Given the description of an element on the screen output the (x, y) to click on. 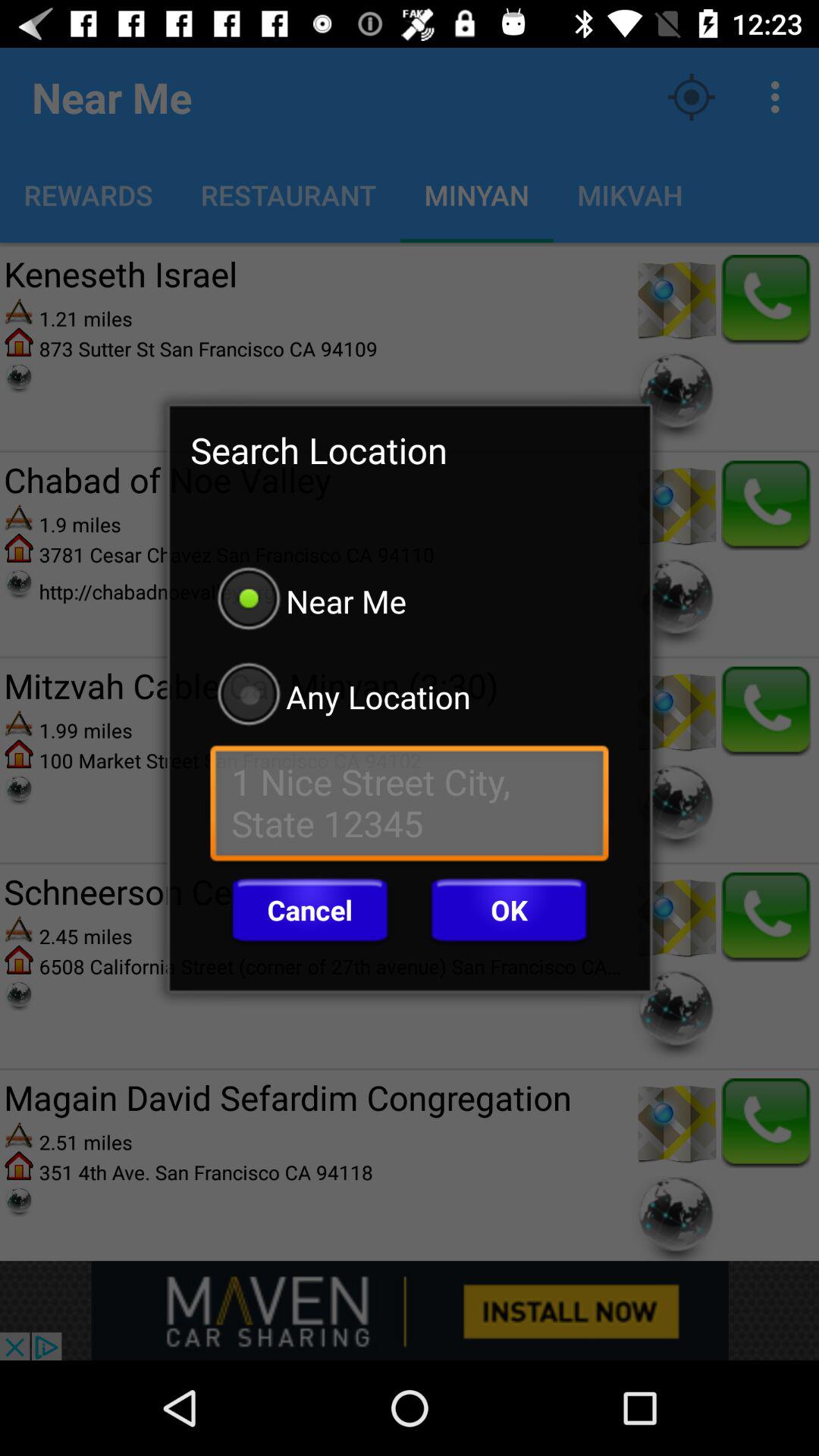
where you enter address (409, 807)
